Given the description of an element on the screen output the (x, y) to click on. 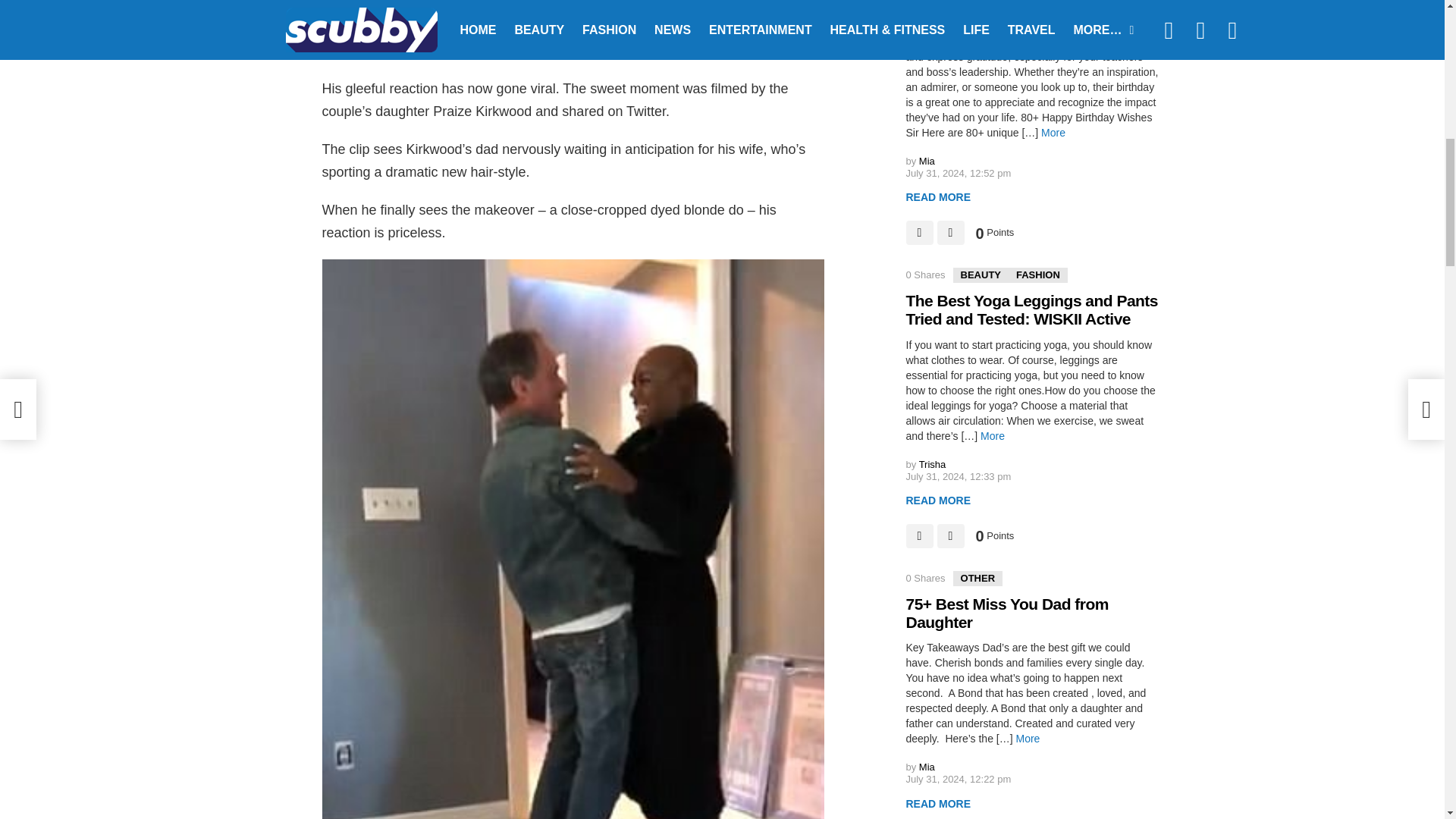
Posts by Trisha (932, 464)
Downvote (950, 232)
Posts by Mia (926, 161)
Upvote (919, 232)
Posts by Mia (926, 767)
Downvote (950, 535)
Upvote (919, 535)
